Given the description of an element on the screen output the (x, y) to click on. 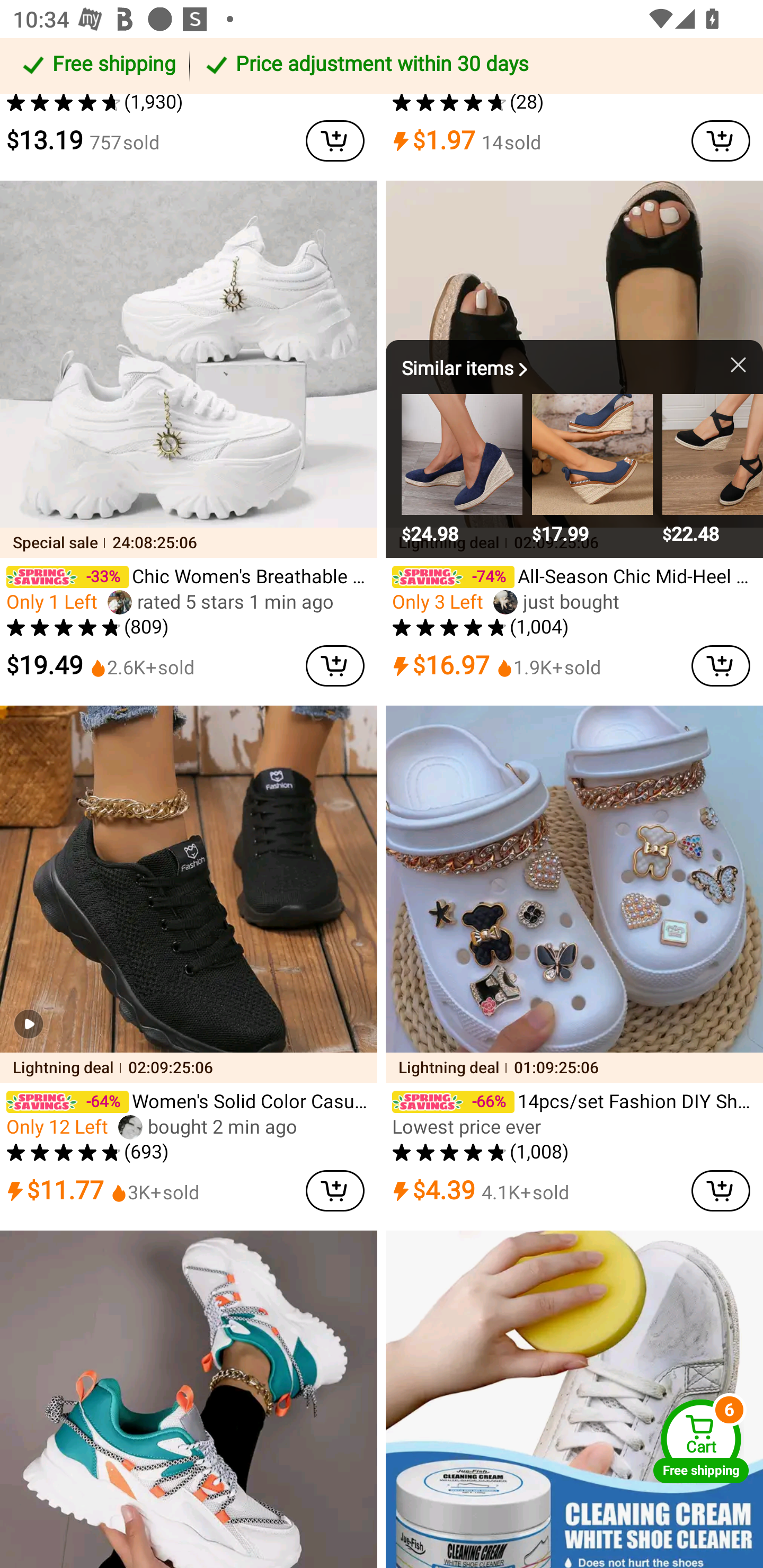
Free shipping (97, 65)
Price adjustment within 30 days (472, 65)
cart delete (334, 140)
cart delete (720, 140)
close similar items (726, 364)
Similar items (467, 368)
$24.98 (461, 470)
$17.99 (592, 470)
$22.48 (712, 470)
cart delete (334, 665)
cart delete (720, 665)
cart delete (334, 1190)
cart delete (720, 1190)
Cart Free shipping Cart (701, 1440)
